Given the description of an element on the screen output the (x, y) to click on. 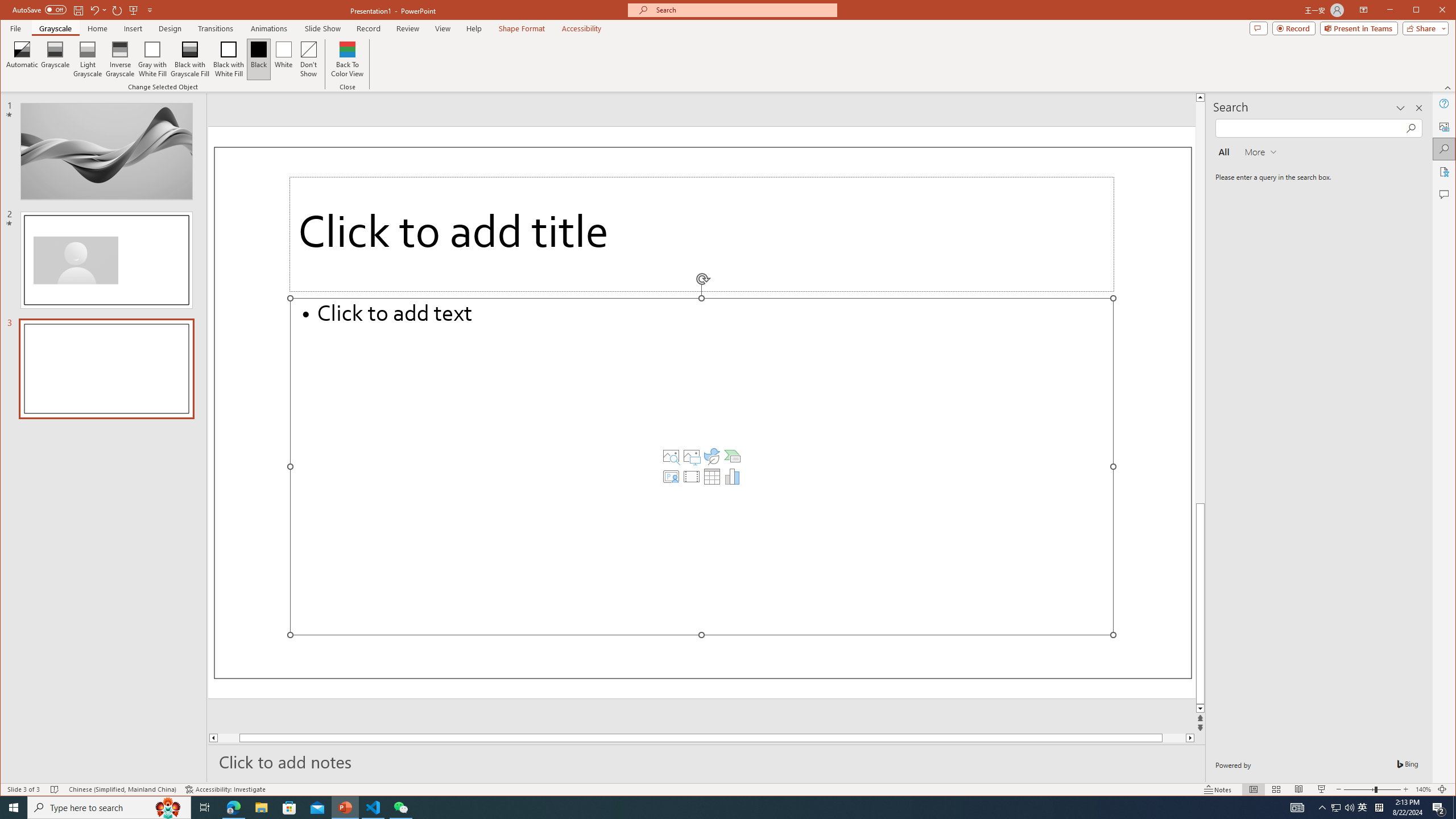
Inverse Grayscale (119, 59)
